Given the description of an element on the screen output the (x, y) to click on. 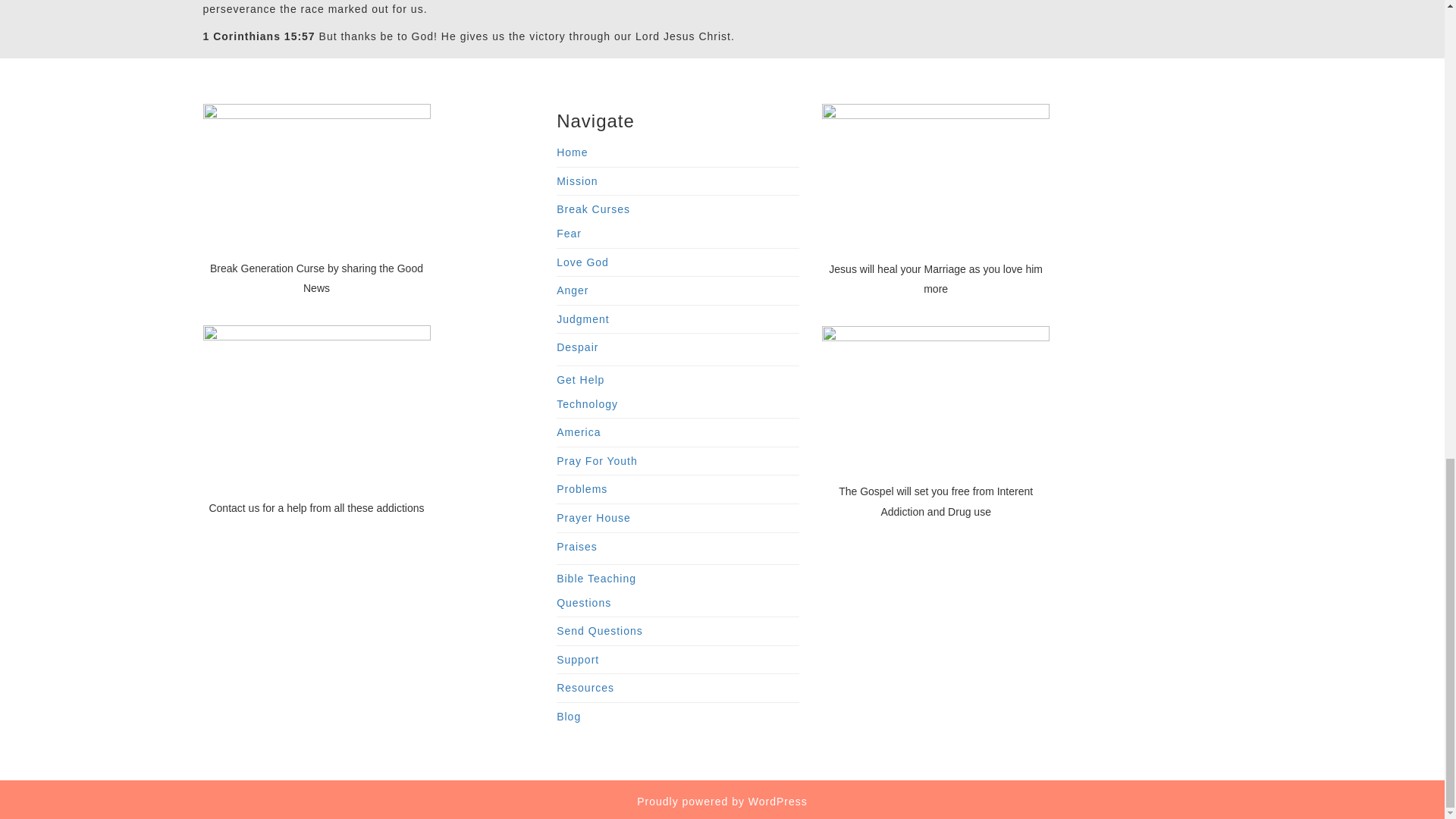
Prayer House (593, 517)
Problems (581, 489)
Mission (576, 181)
Bible Teaching (596, 578)
Home (572, 152)
Pray For Youth (596, 460)
Technology (586, 404)
Judgment (582, 318)
Break Curses (593, 209)
Anger (572, 290)
Despair (577, 346)
Fear (568, 233)
Get Help (580, 379)
America (577, 431)
Praises (576, 545)
